Given the description of an element on the screen output the (x, y) to click on. 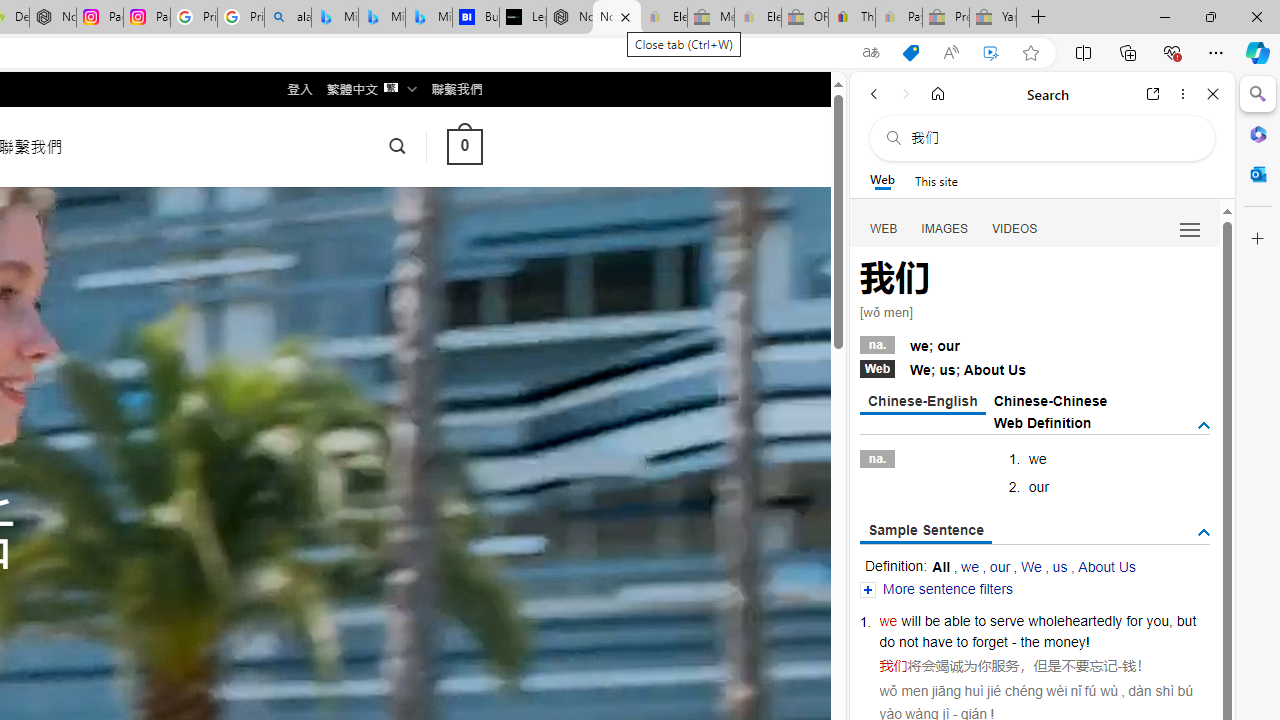
Us (1017, 370)
About Us (1106, 566)
